Given the description of an element on the screen output the (x, y) to click on. 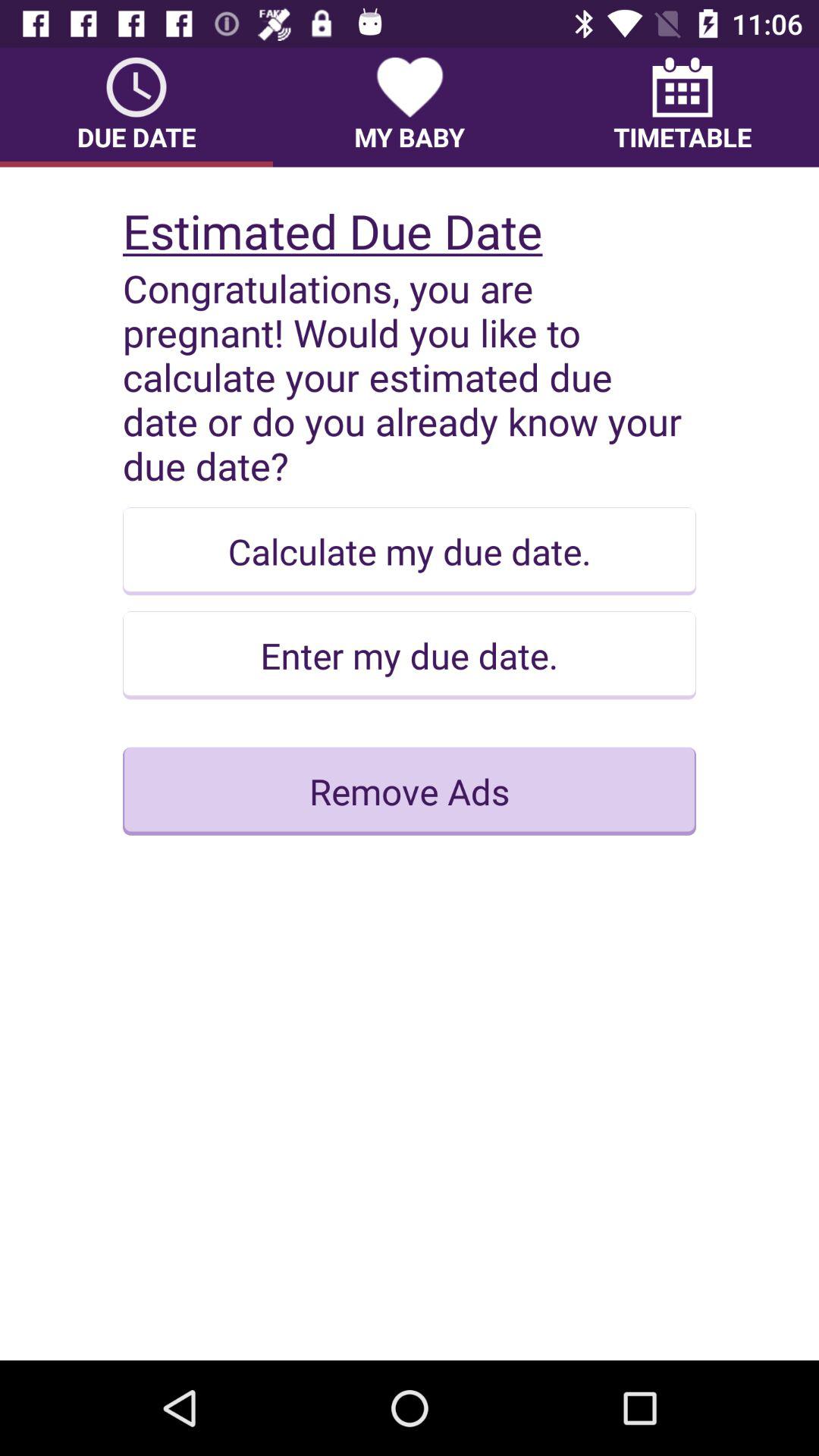
press the item to the left of timetable (409, 107)
